Given the description of an element on the screen output the (x, y) to click on. 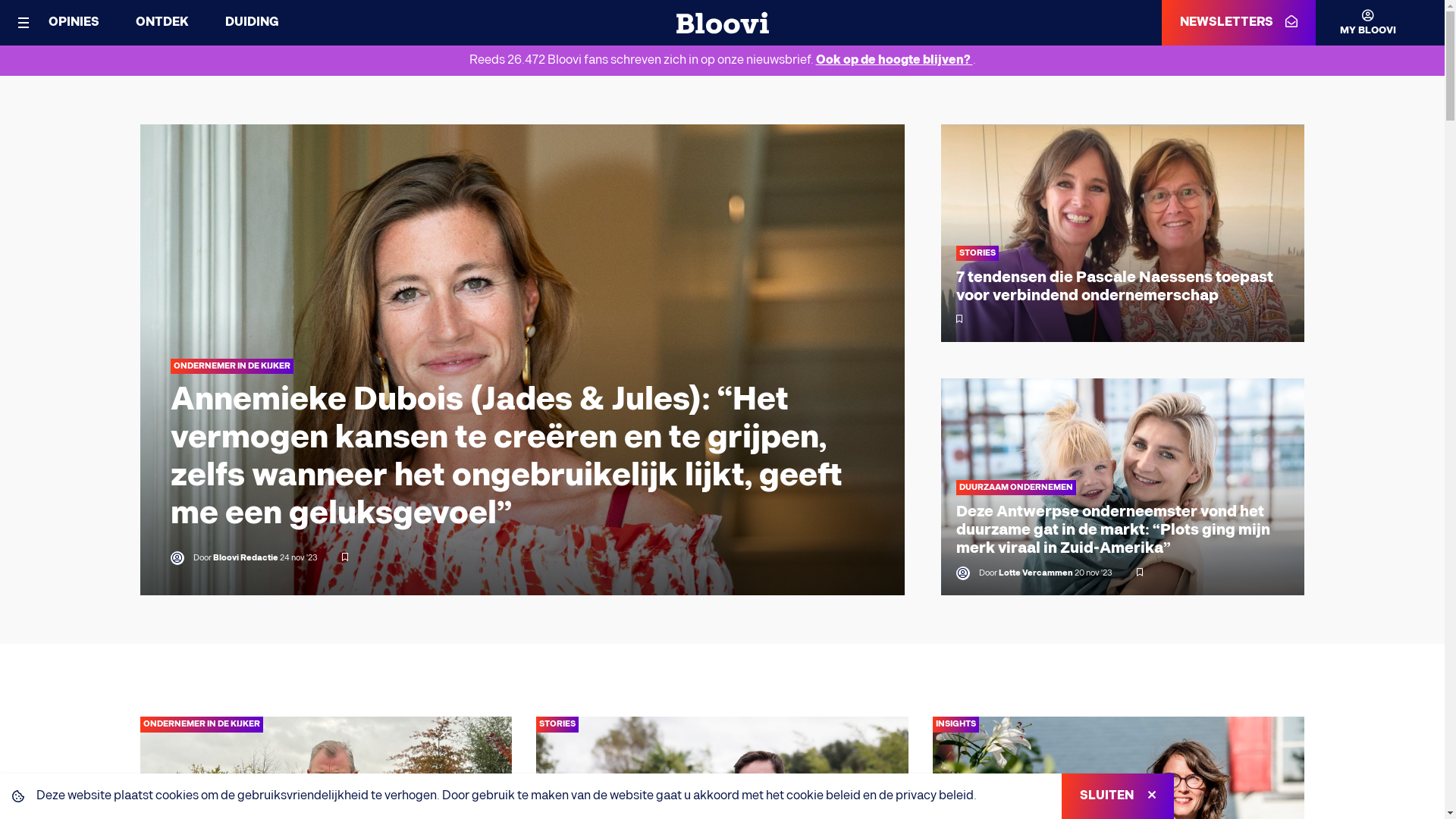
cookie beleid Element type: text (823, 795)
ONTDEK Element type: text (161, 22)
ONDERNEMER IN DE KIJKER Element type: text (230, 366)
NEWSLETTERS Element type: text (1238, 22)
MY BLOOVI Element type: text (1355, 22)
STORIES Element type: text (557, 724)
Ook op de hoogte blijven? Element type: text (893, 60)
DUURZAAM ONDERNEMEN Element type: text (1015, 487)
Lotte Vercammen Element type: text (1034, 573)
DUIDING Element type: text (251, 22)
privacy beleid Element type: text (934, 795)
ONDERNEMER IN DE KIJKER Element type: text (200, 724)
STORIES Element type: text (976, 253)
INSIGHTS Element type: text (955, 724)
Bloovi Redactie Element type: text (244, 558)
OPINIES Element type: text (73, 22)
